Given the description of an element on the screen output the (x, y) to click on. 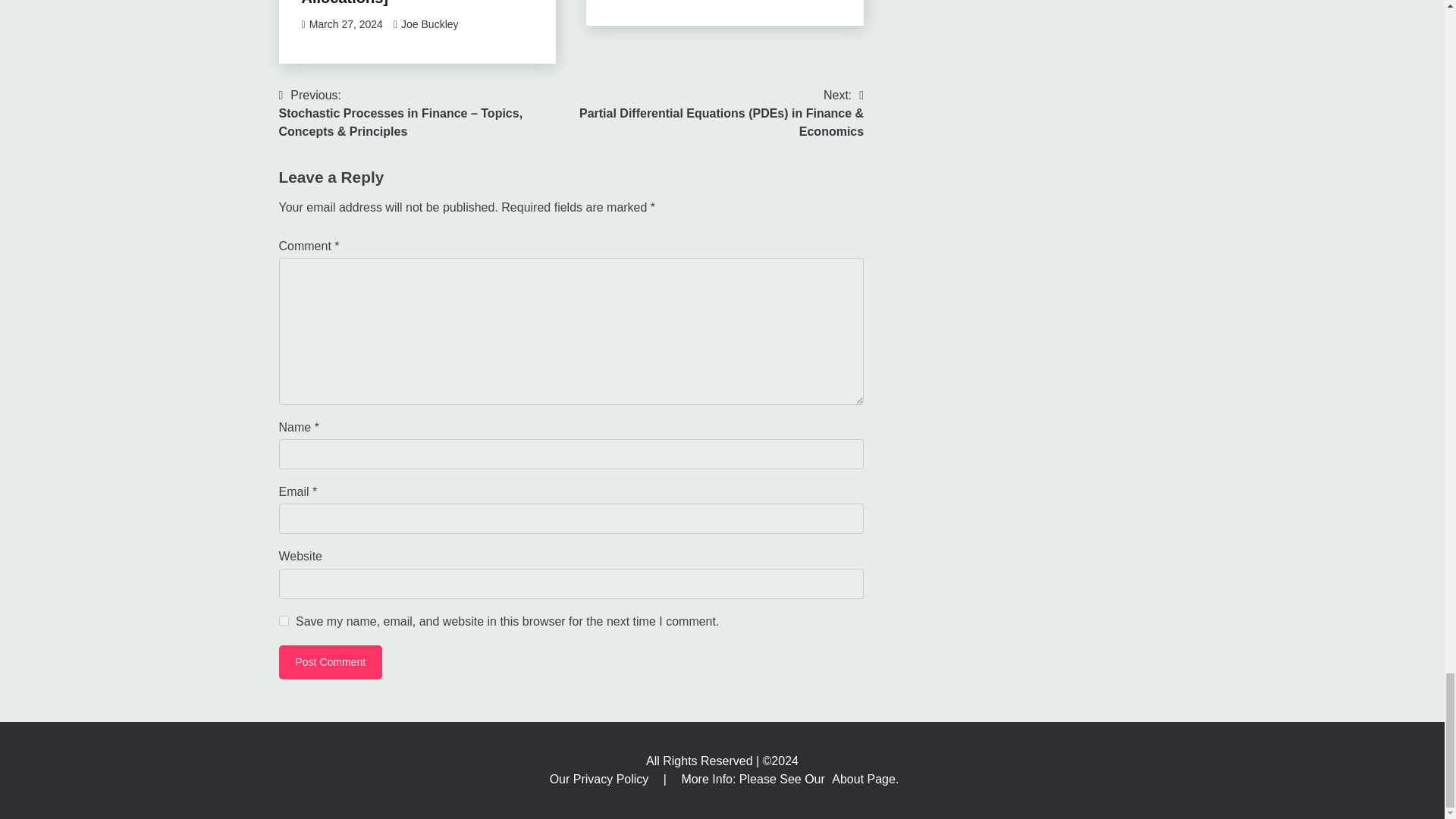
Joe Buckley (429, 24)
Post Comment (330, 662)
March 27, 2024 (345, 24)
yes (283, 620)
